Given the description of an element on the screen output the (x, y) to click on. 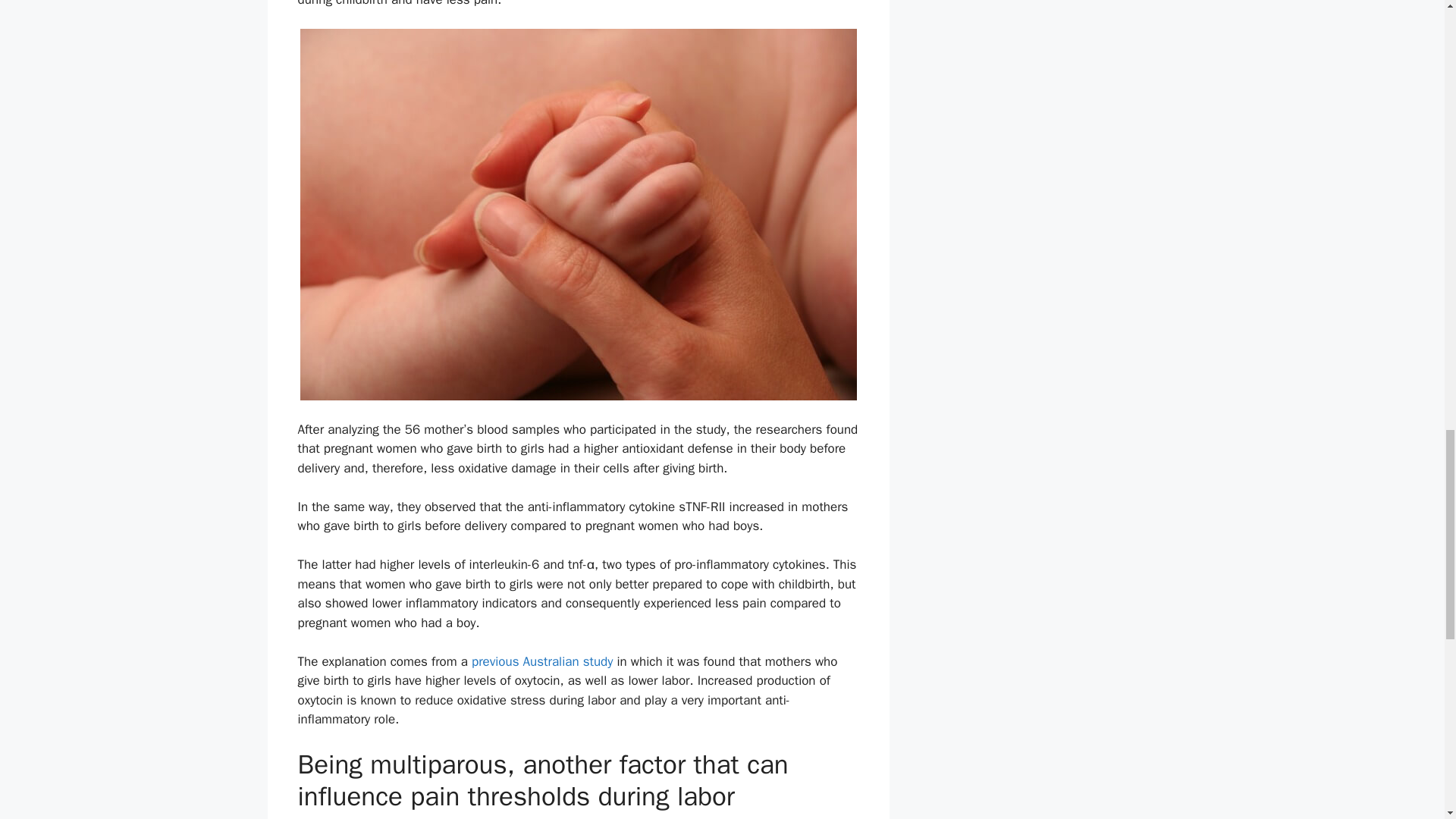
previous Australian study (541, 661)
